Given the description of an element on the screen output the (x, y) to click on. 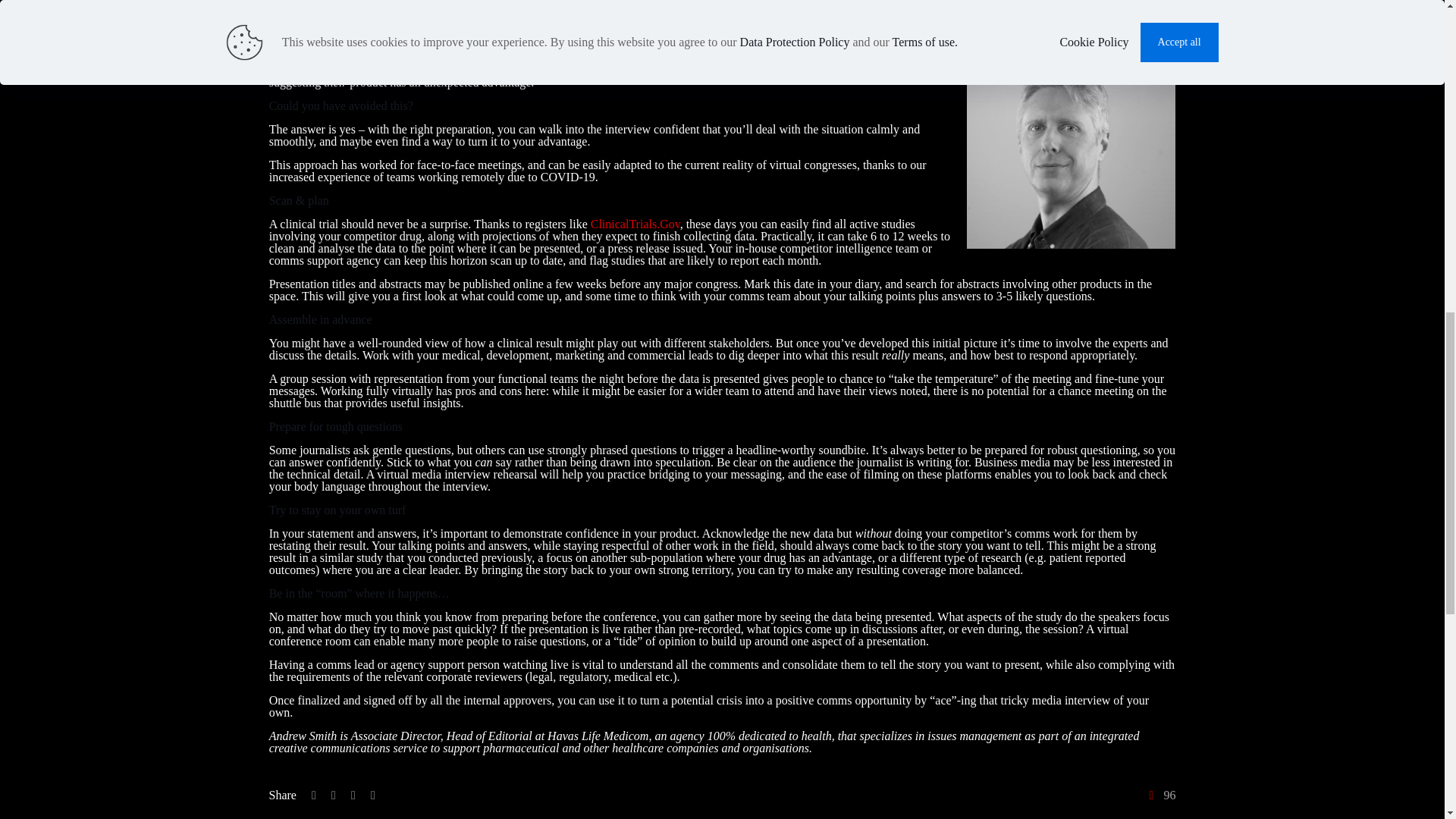
ClinicalTrials.Gov (635, 223)
96 (1159, 795)
